Given the description of an element on the screen output the (x, y) to click on. 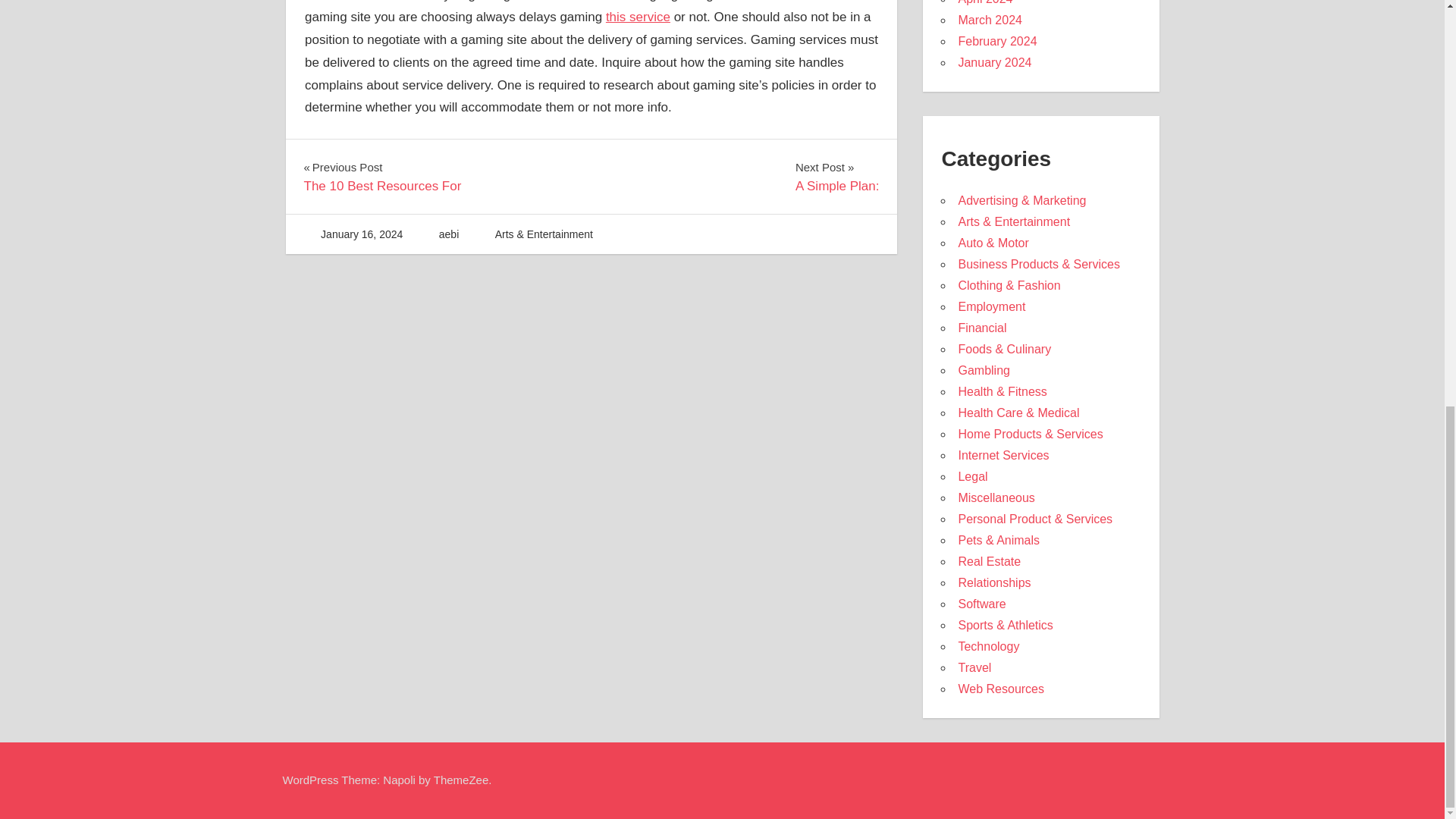
aebi (448, 234)
5:21 am (361, 234)
Real Estate (989, 561)
April 2024 (984, 2)
View all posts by aebi (448, 234)
March 2024 (990, 19)
Miscellaneous (995, 497)
Internet Services (1003, 454)
January 2024 (994, 62)
Gambling (983, 369)
February 2024 (997, 41)
Legal (972, 476)
Financial (381, 176)
